Given the description of an element on the screen output the (x, y) to click on. 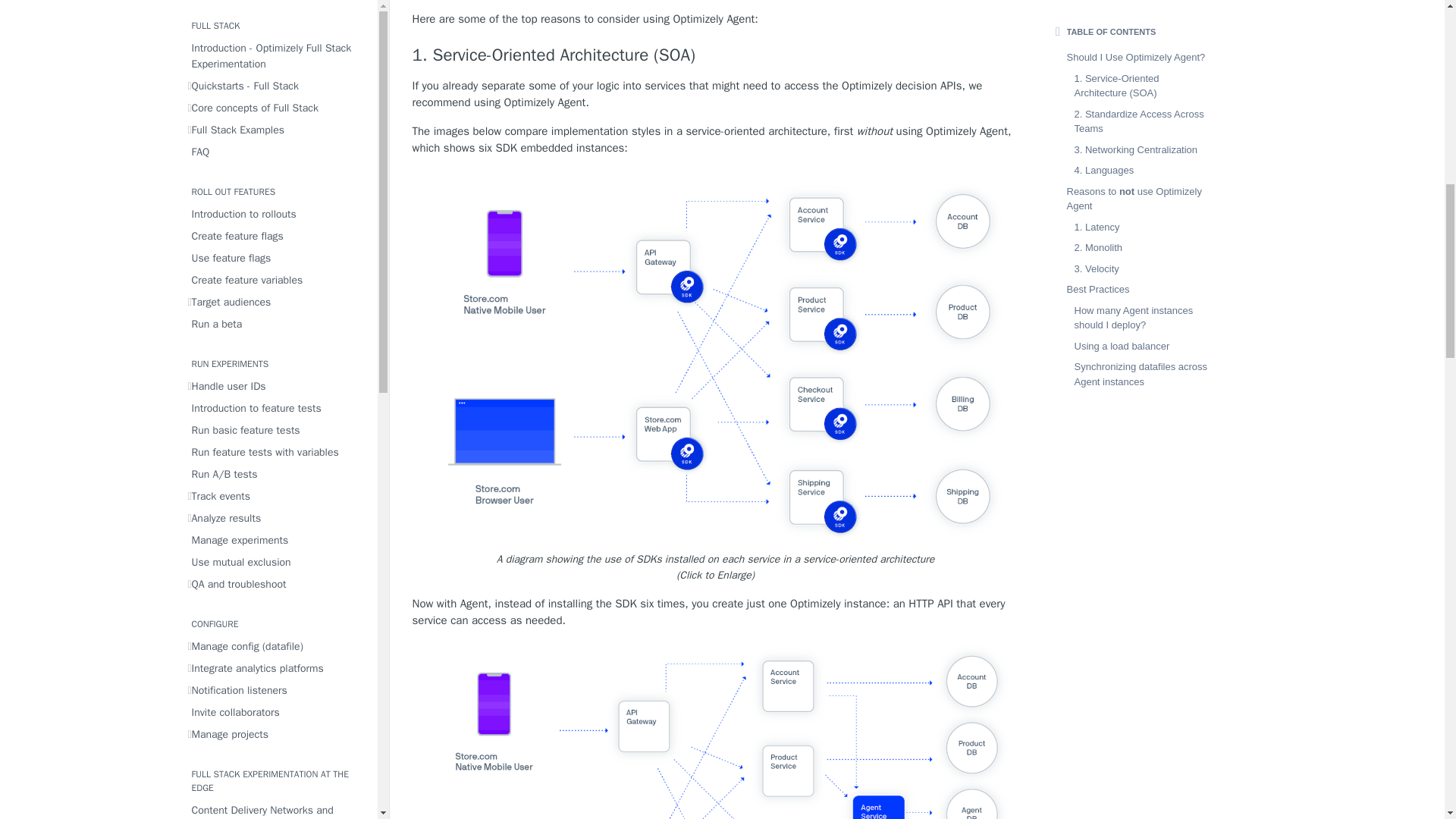
agent-single-service.png (715, 729)
